Given the description of an element on the screen output the (x, y) to click on. 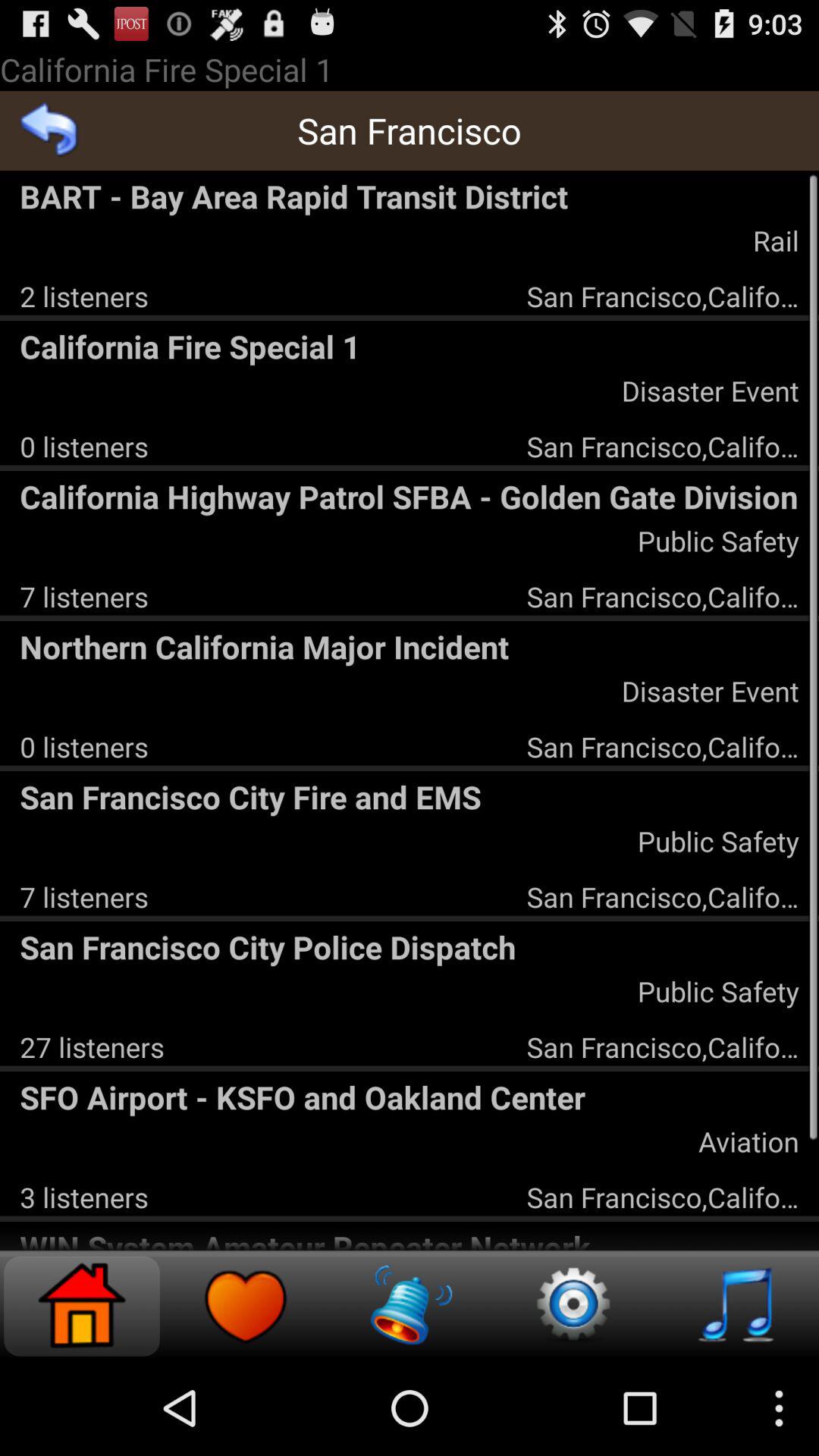
open the bart bay area item (409, 195)
